Given the description of an element on the screen output the (x, y) to click on. 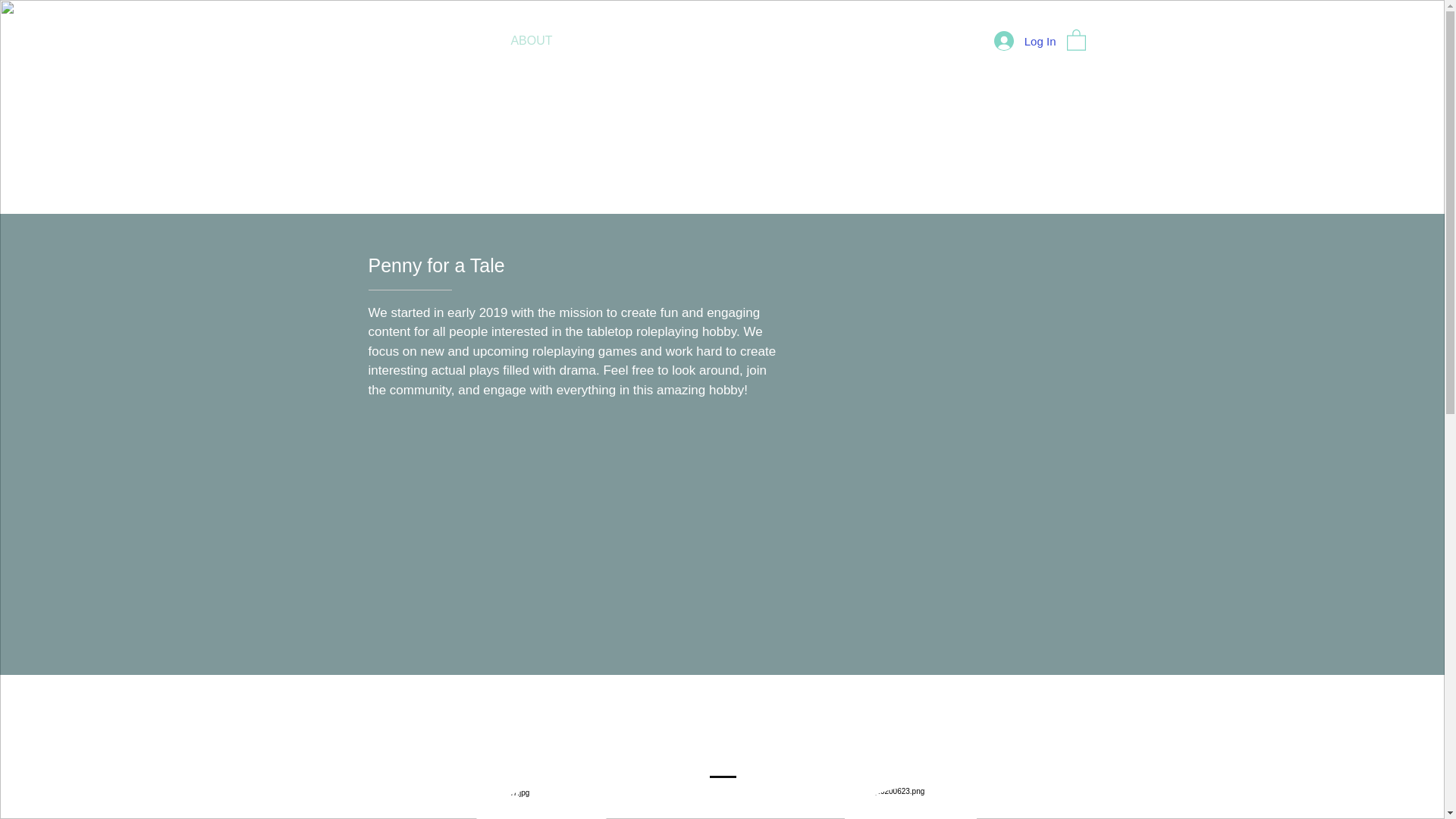
SHOP (944, 40)
ABOUT (532, 40)
guy2.jpg (541, 803)
HOME (411, 40)
guy2.jpg (909, 802)
SERVICES (814, 40)
Log In (1025, 40)
